Given the description of an element on the screen output the (x, y) to click on. 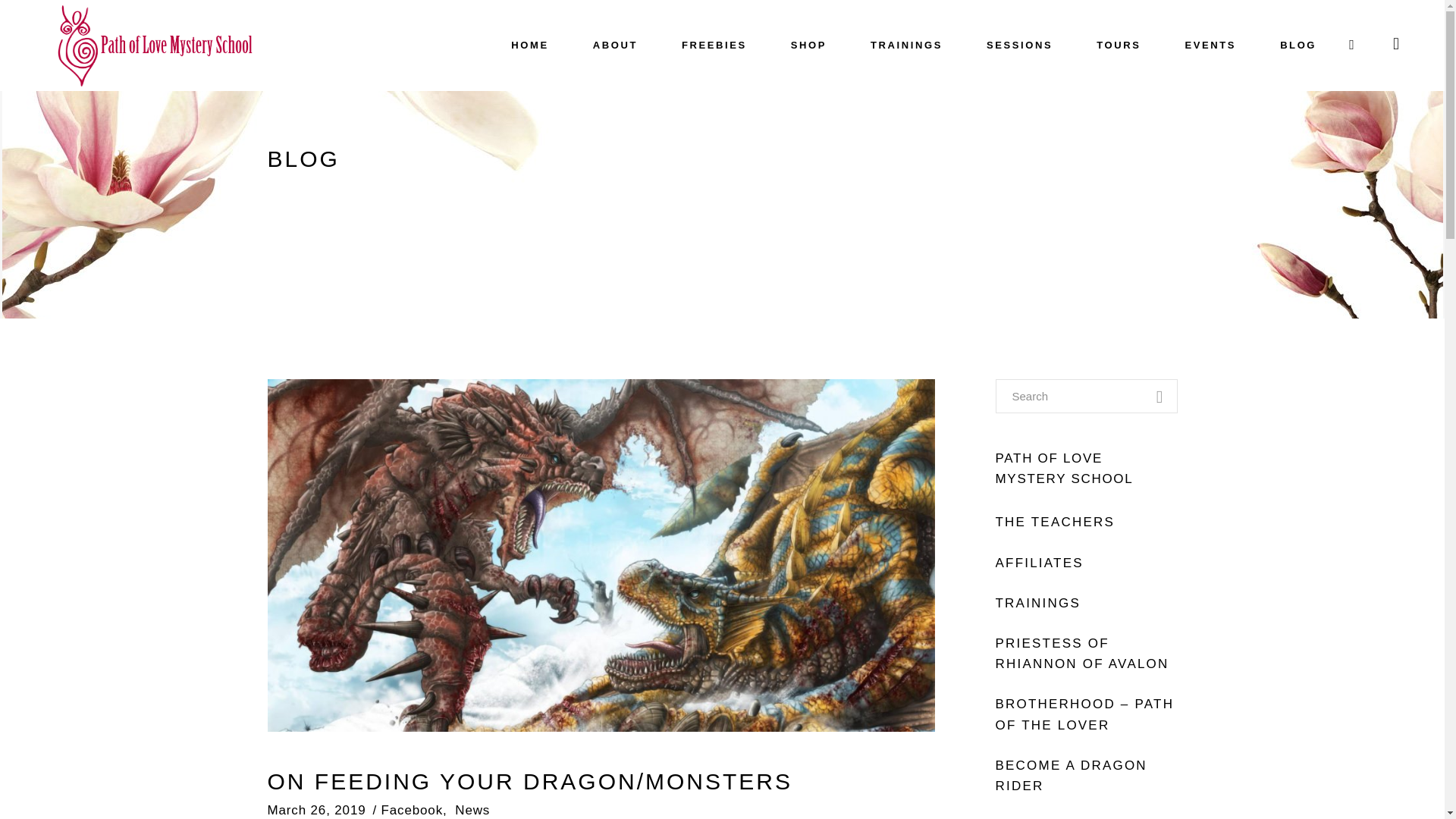
EVENTS (1211, 45)
ABOUT (614, 45)
FREEBIES (713, 45)
TOURS (1117, 45)
TRAININGS (905, 45)
HOME (529, 45)
SESSIONS (1018, 45)
Search for: (1085, 396)
